Given the description of an element on the screen output the (x, y) to click on. 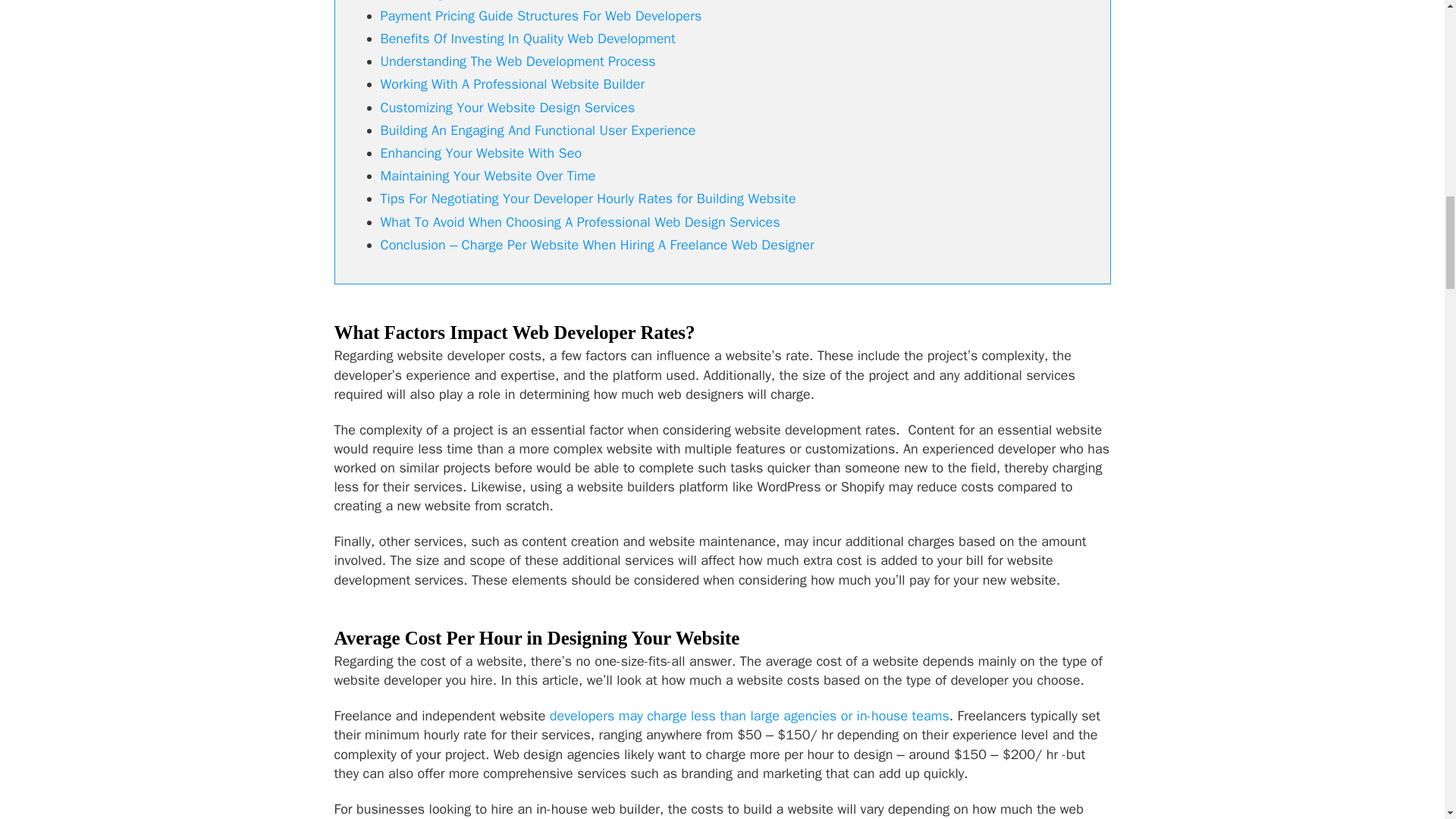
Building An Engaging And Functional User Experience (537, 130)
Customizing Your Website Design Services (507, 107)
Working With A Professional Website Builder (512, 84)
Top Tips for Software Development Team Best Practices (749, 715)
Maintaining Your Website Over Time (487, 175)
Benefits Of Investing In Quality Web Development (527, 38)
Enhancing Your Website With Seo (481, 152)
Payment Pricing Guide Structures For Web Developers (540, 15)
Understanding The Web Development Process (518, 61)
